Given the description of an element on the screen output the (x, y) to click on. 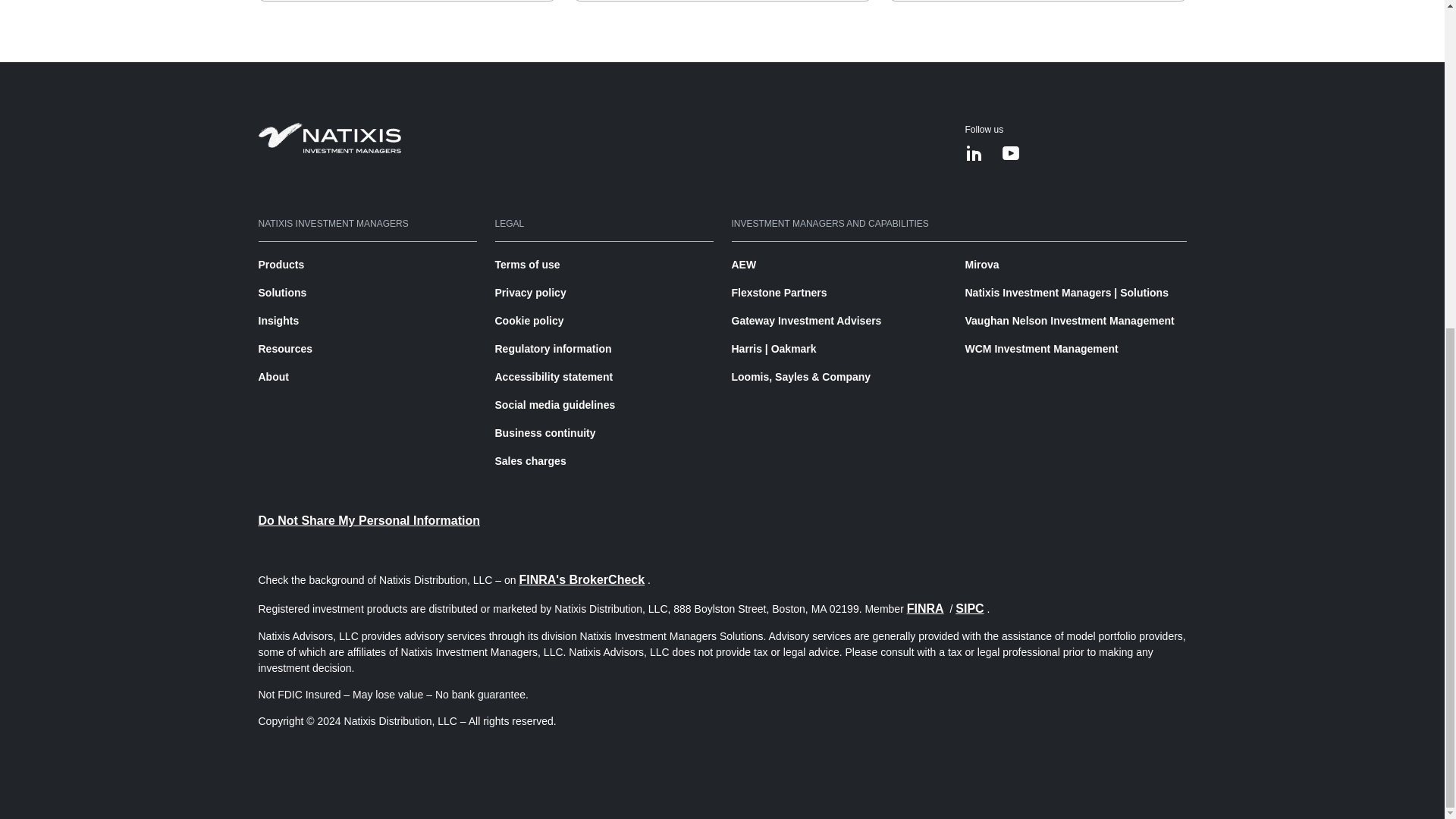
Do Not Share My Personal Information (368, 520)
youtube (1010, 155)
linkedin (972, 155)
